Given the description of an element on the screen output the (x, y) to click on. 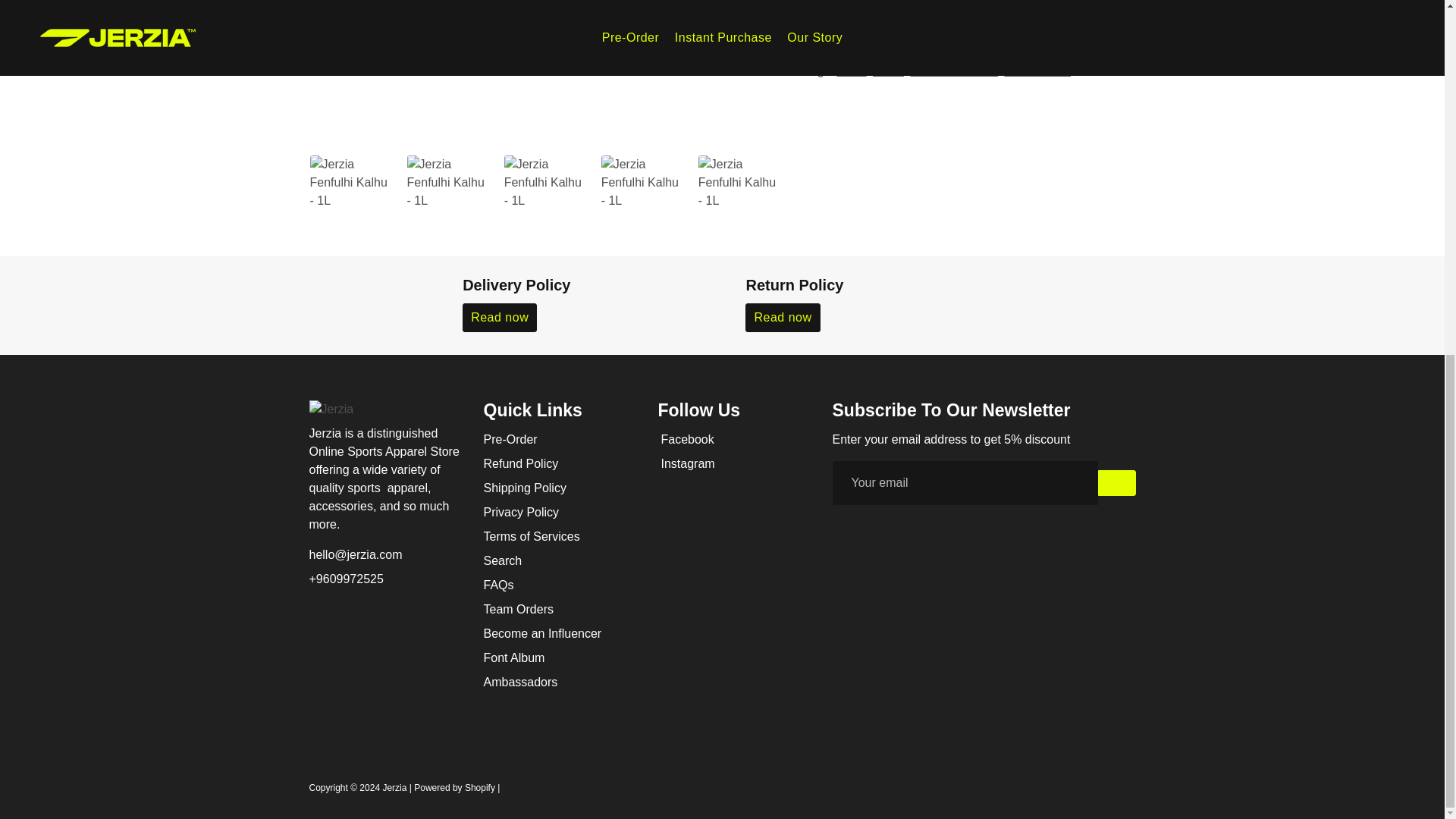
Share on Facebook (830, 35)
Tweet on Twitter (886, 35)
Jerzia on Instagram (686, 464)
Pin on Pinterest (941, 35)
Jerzia on Facebook (686, 439)
